Given the description of an element on the screen output the (x, y) to click on. 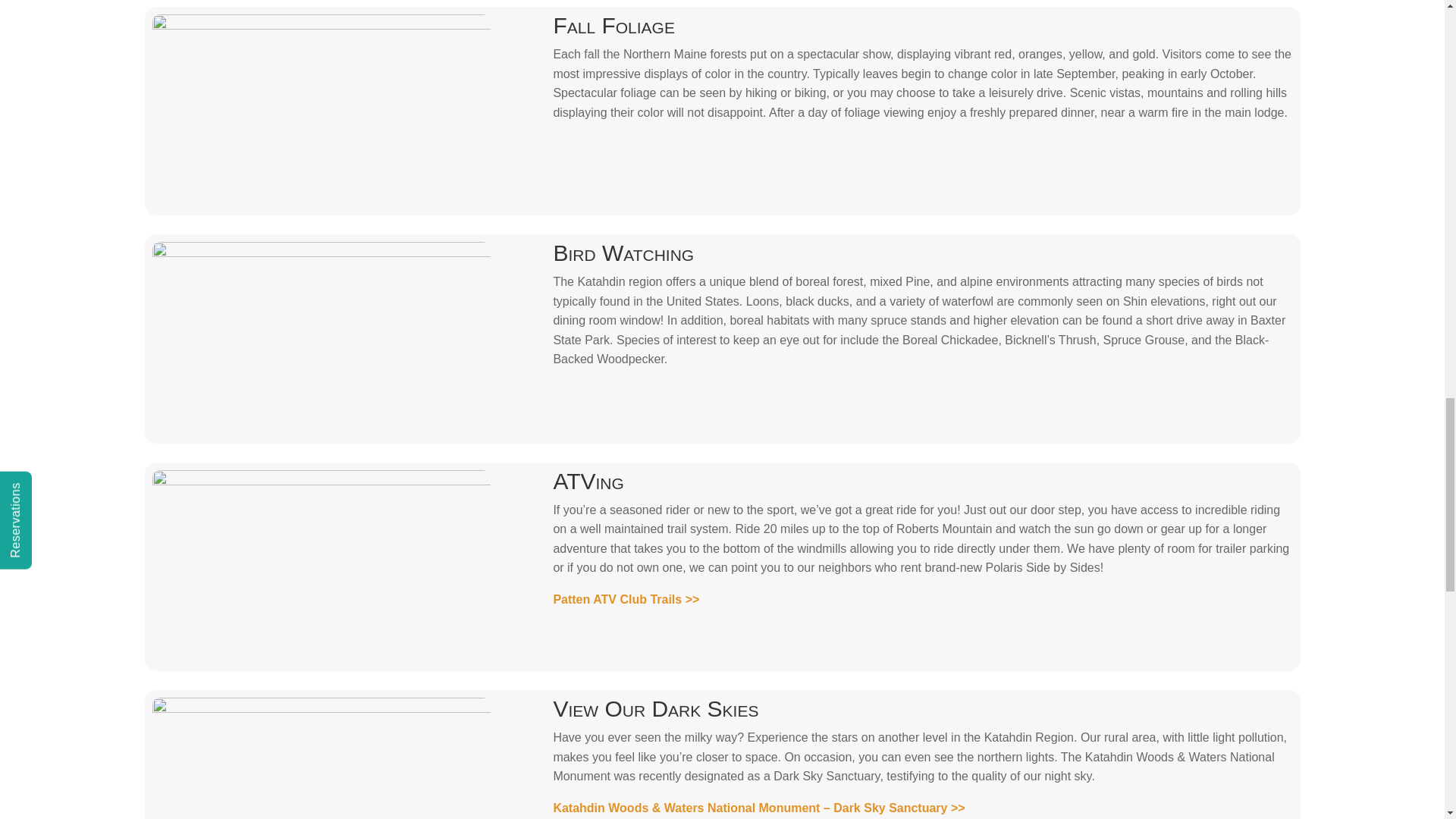
birding (320, 337)
darkskies (320, 758)
ATV (320, 566)
